Given the description of an element on the screen output the (x, y) to click on. 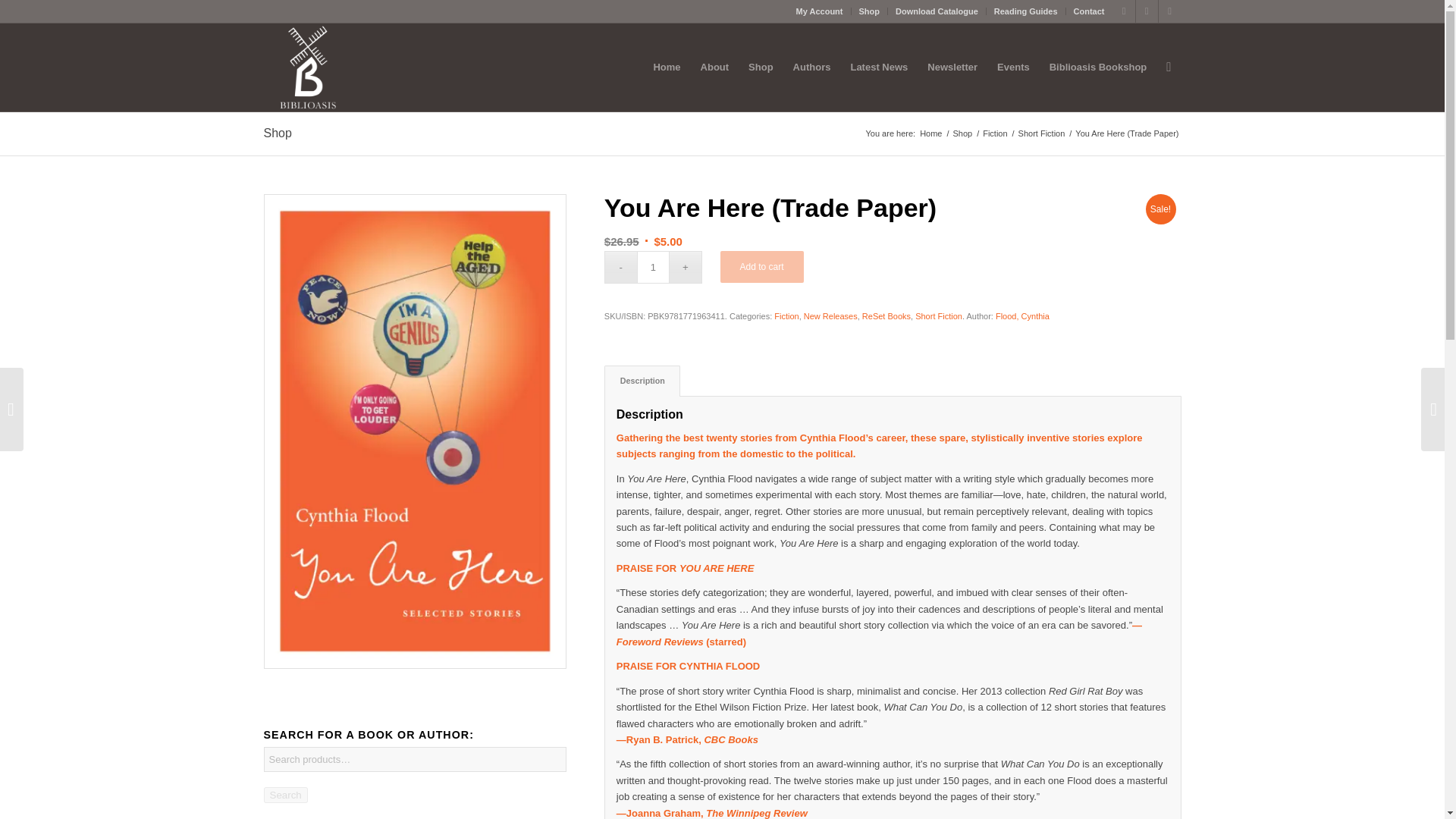
My Account (819, 11)
Short Fiction (1041, 133)
Mail (1169, 11)
Fiction (994, 133)
Download Catalogue (936, 11)
- (620, 266)
Permanent Link: Shop (277, 132)
X (1146, 11)
Shop (869, 11)
Reading Guides (1026, 11)
